Given the description of an element on the screen output the (x, y) to click on. 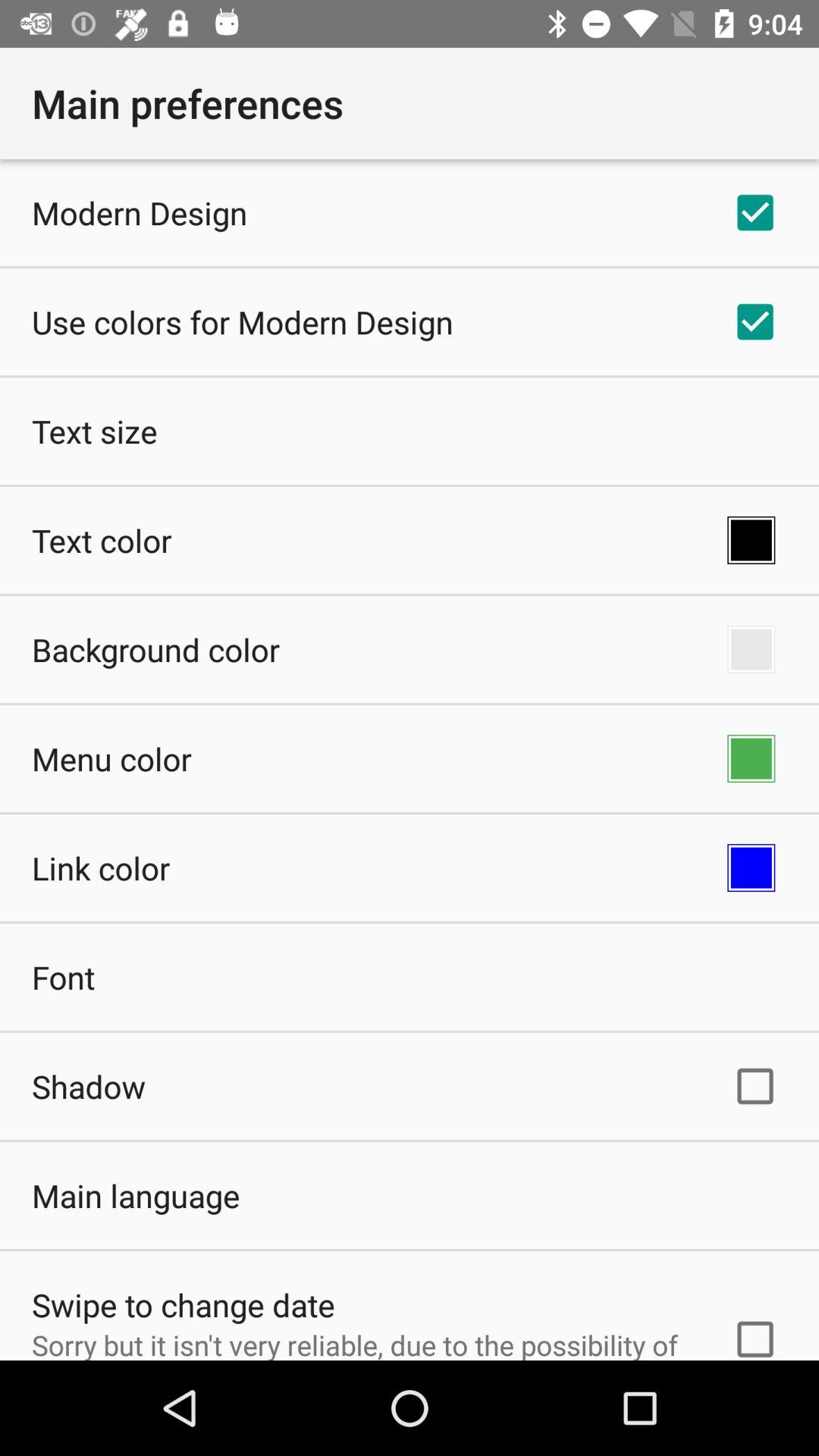
launch app below text size app (101, 539)
